Given the description of an element on the screen output the (x, y) to click on. 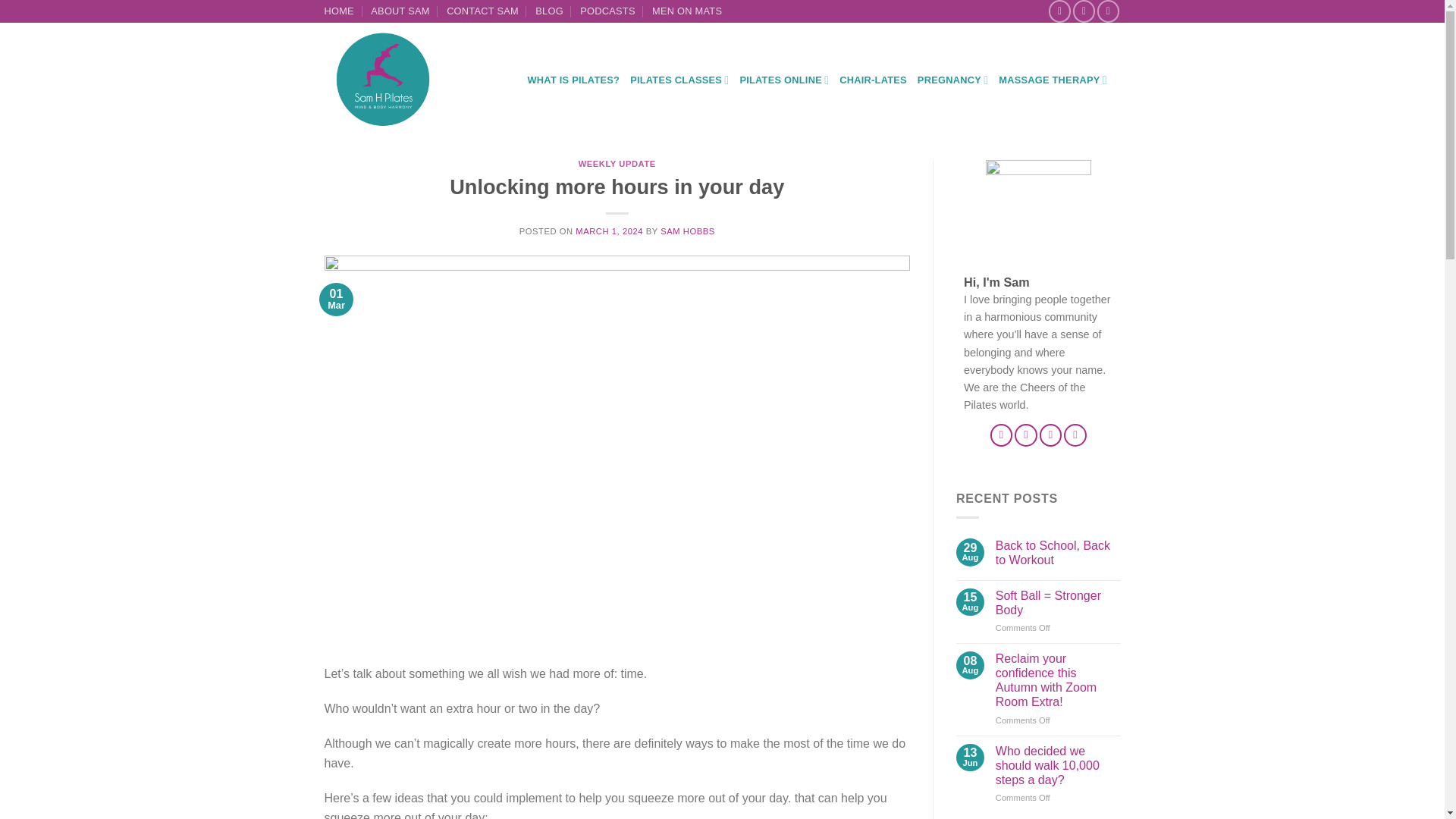
CHAIR-LATES (873, 79)
Follow on Facebook (1059, 11)
ABOUT SAM (400, 11)
SAM HOBBS (687, 230)
WHAT IS PILATES? (573, 79)
BLOG (549, 11)
Follow on Facebook (1001, 435)
PILATES CLASSES (679, 79)
MARCH 1, 2024 (609, 230)
MASSAGE THERAPY (1052, 79)
